Given the description of an element on the screen output the (x, y) to click on. 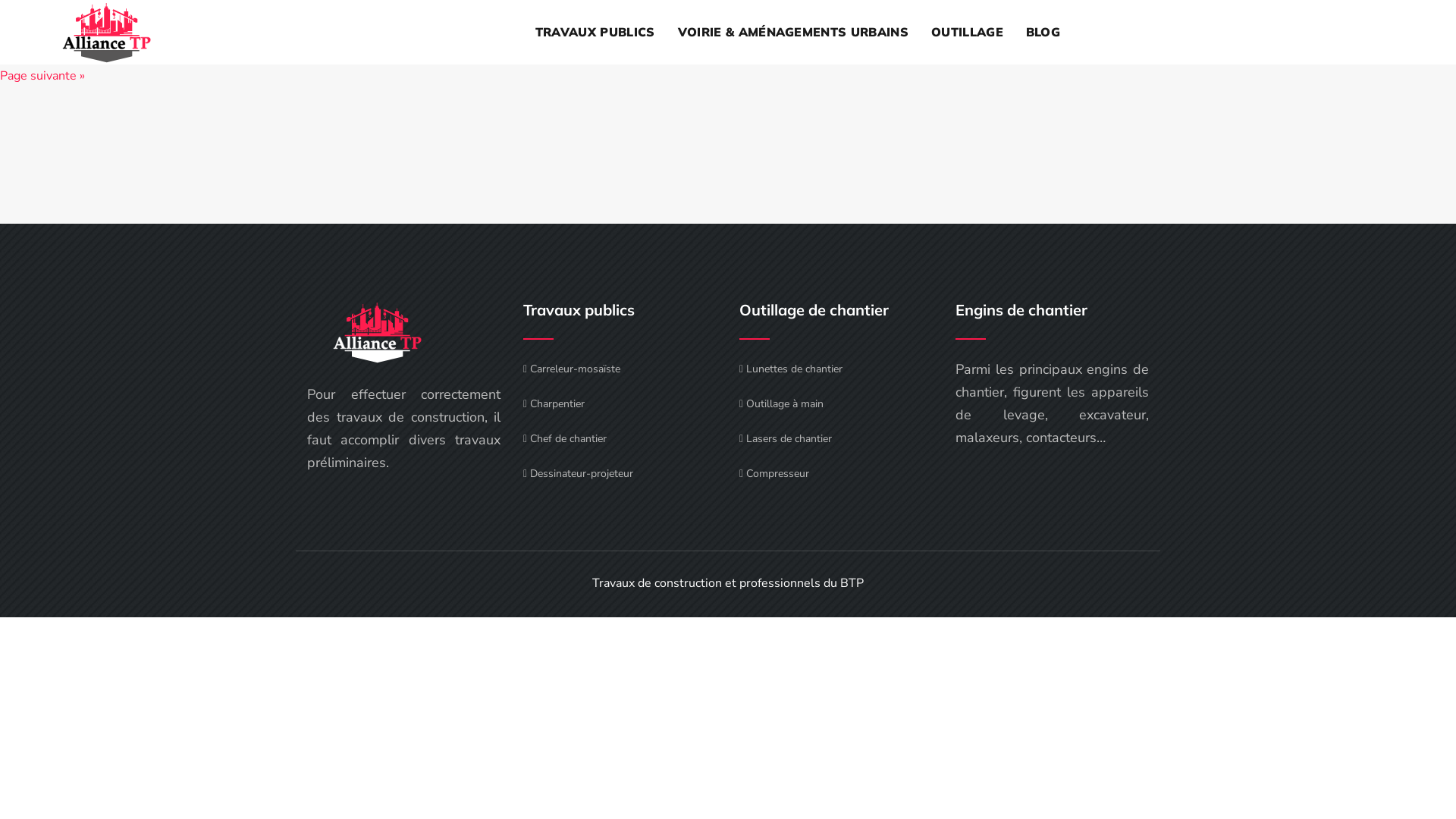
Alliance TP Element type: hover (376, 331)
TRAVAUX PUBLICS Element type: text (595, 32)
OUTILLAGE Element type: text (967, 32)
BLOG Element type: text (1043, 32)
